Given the description of an element on the screen output the (x, y) to click on. 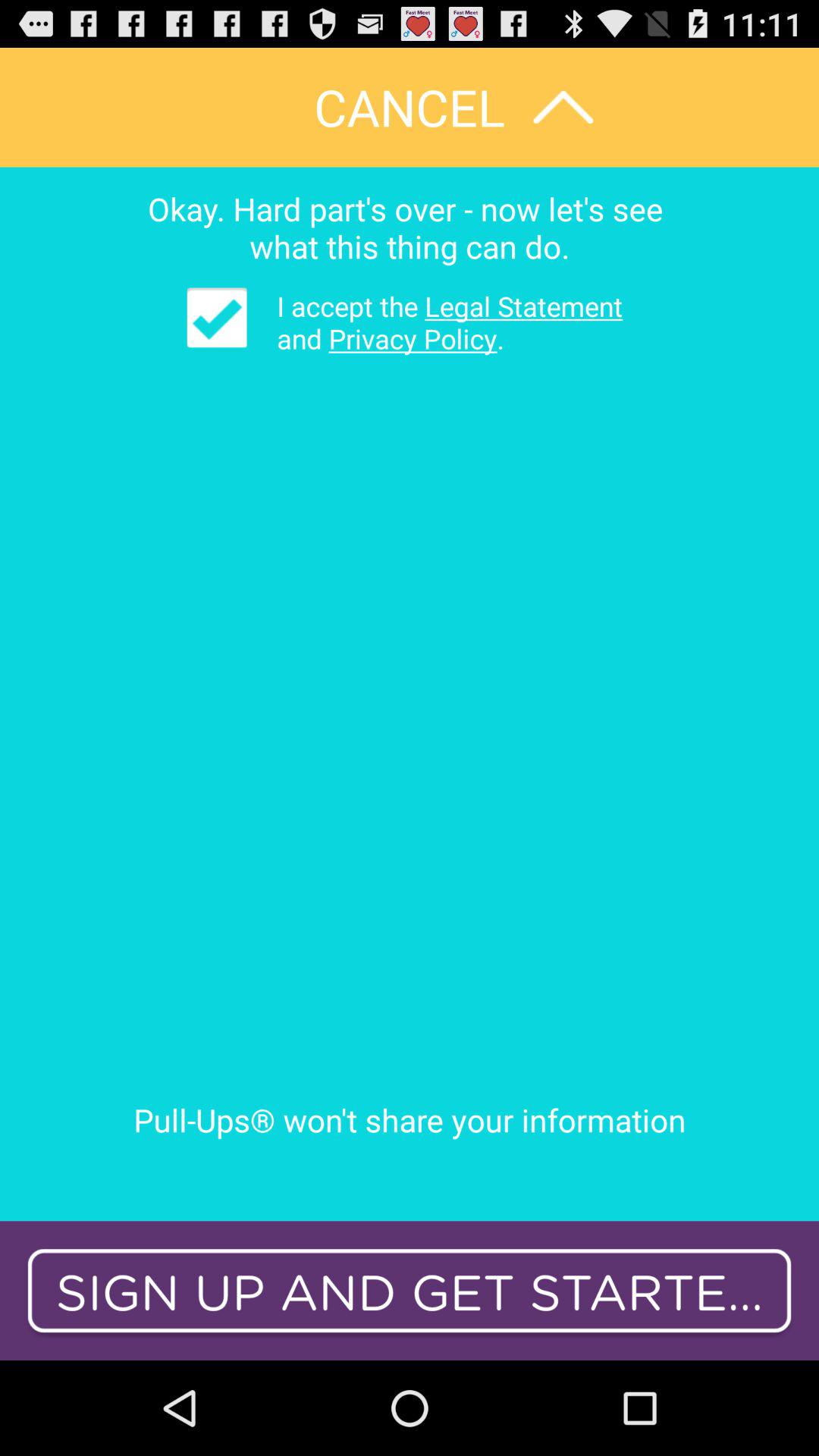
tap the i accept the item (438, 322)
